Given the description of an element on the screen output the (x, y) to click on. 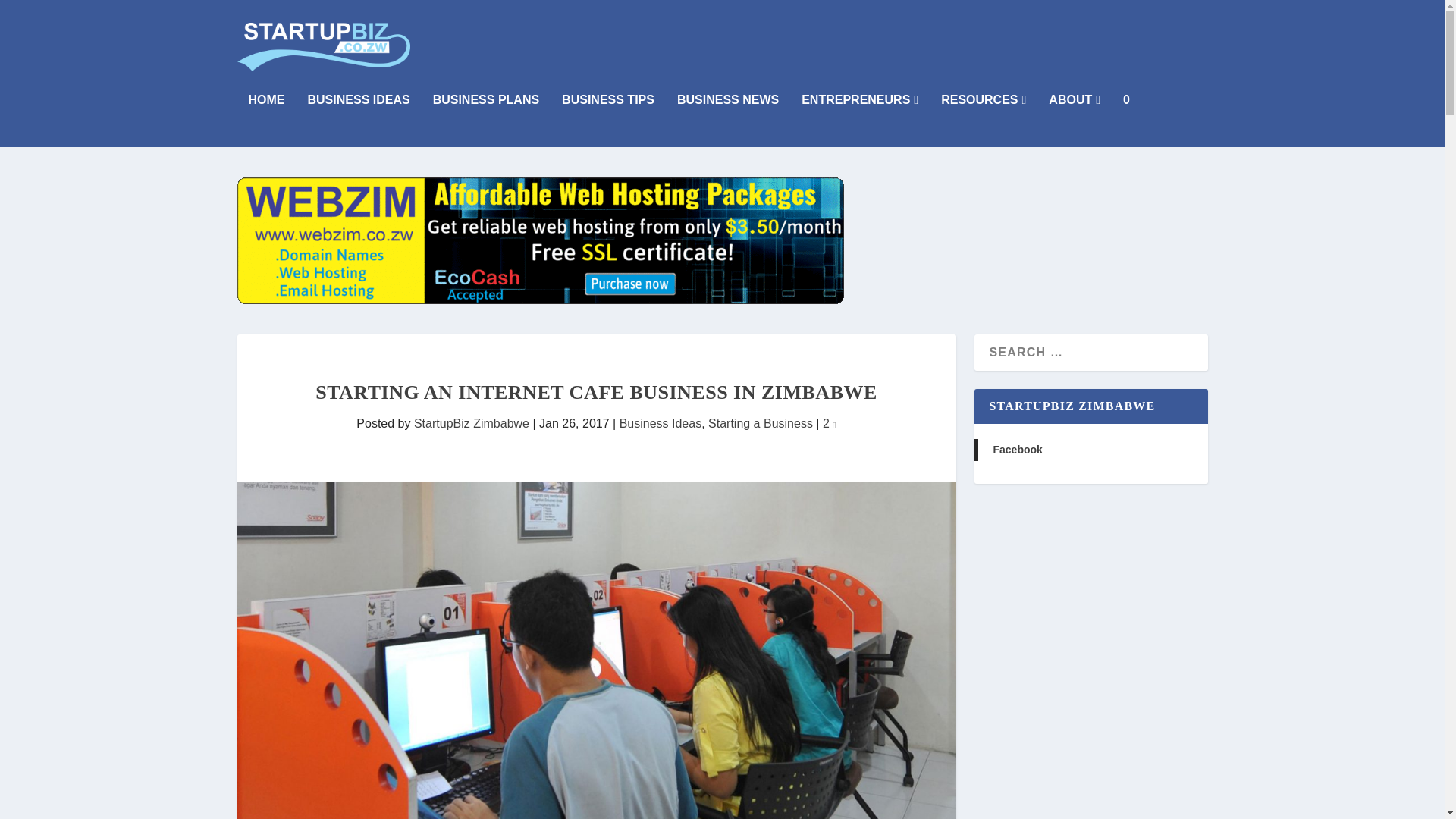
BUSINESS TIPS (607, 120)
BUSINESS PLANS (485, 120)
ABOUT (1074, 120)
BUSINESS NEWS (727, 120)
RESOURCES (983, 120)
BUSINESS IDEAS (358, 120)
Posts by StartupBiz Zimbabwe (471, 422)
ENTREPRENEURS (860, 120)
